Given the description of an element on the screen output the (x, y) to click on. 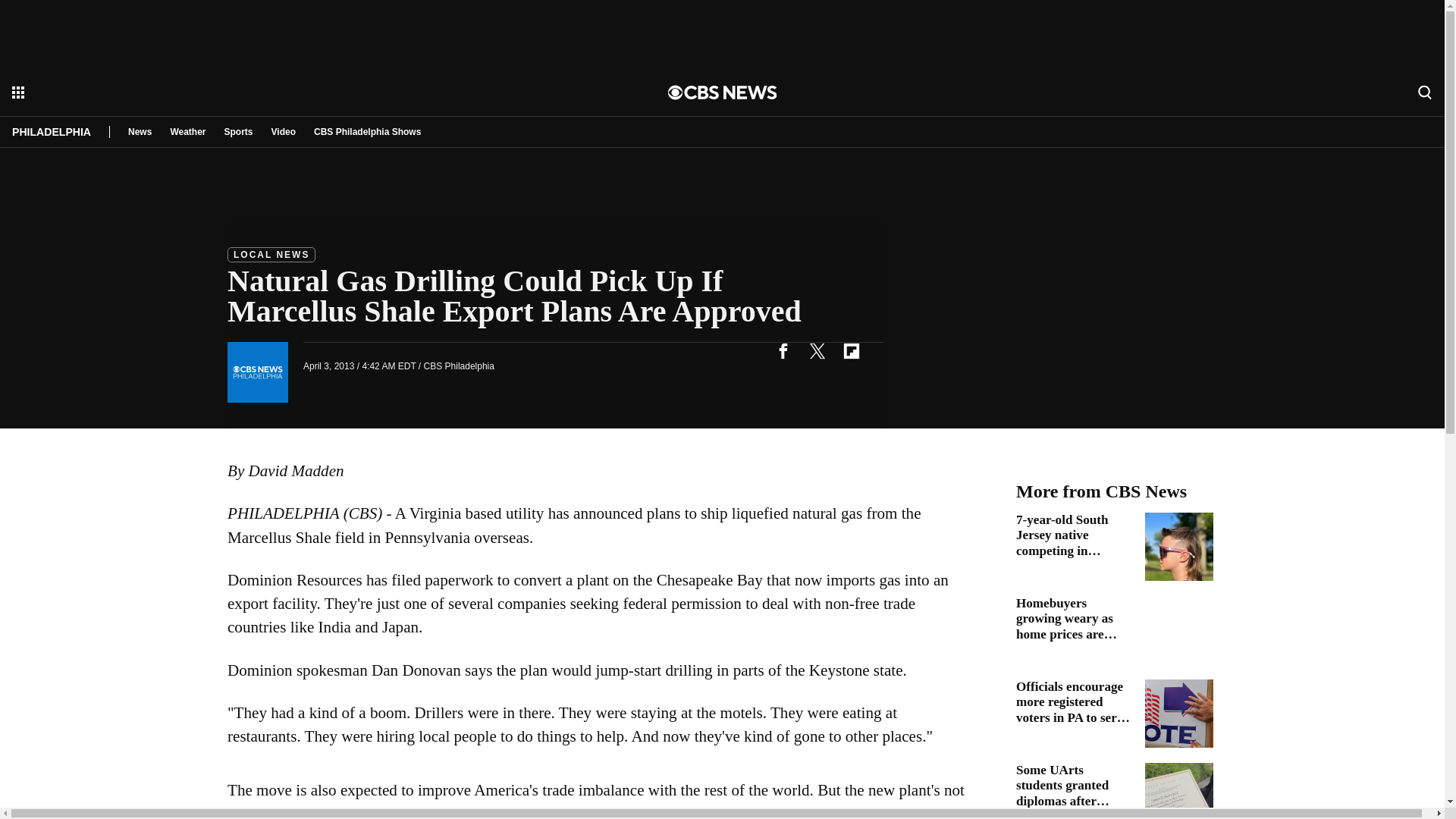
twitter (816, 350)
facebook (782, 350)
flipboard (850, 350)
